Given the description of an element on the screen output the (x, y) to click on. 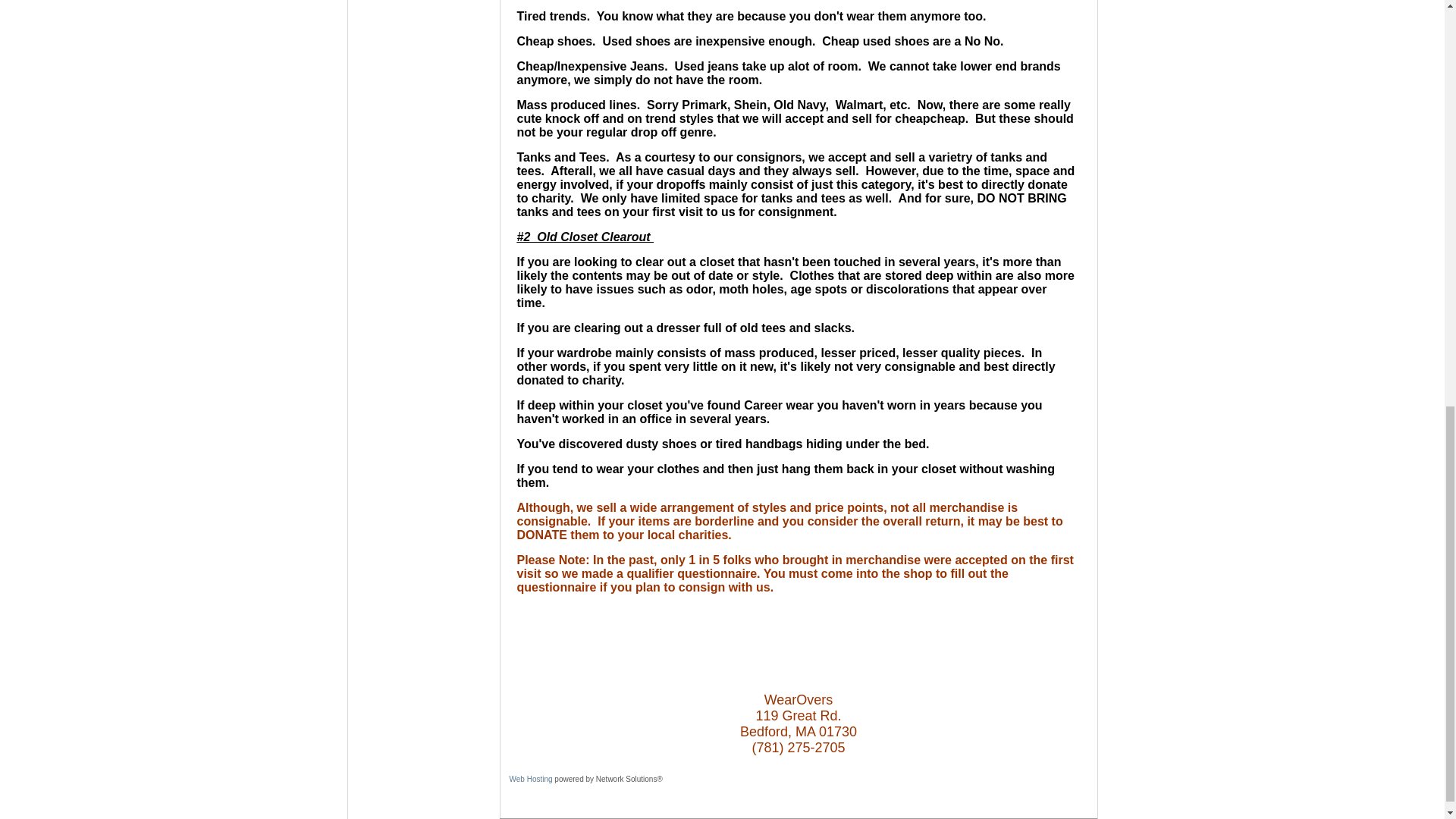
Web Hosting (531, 778)
Web hosting (531, 778)
